Given the description of an element on the screen output the (x, y) to click on. 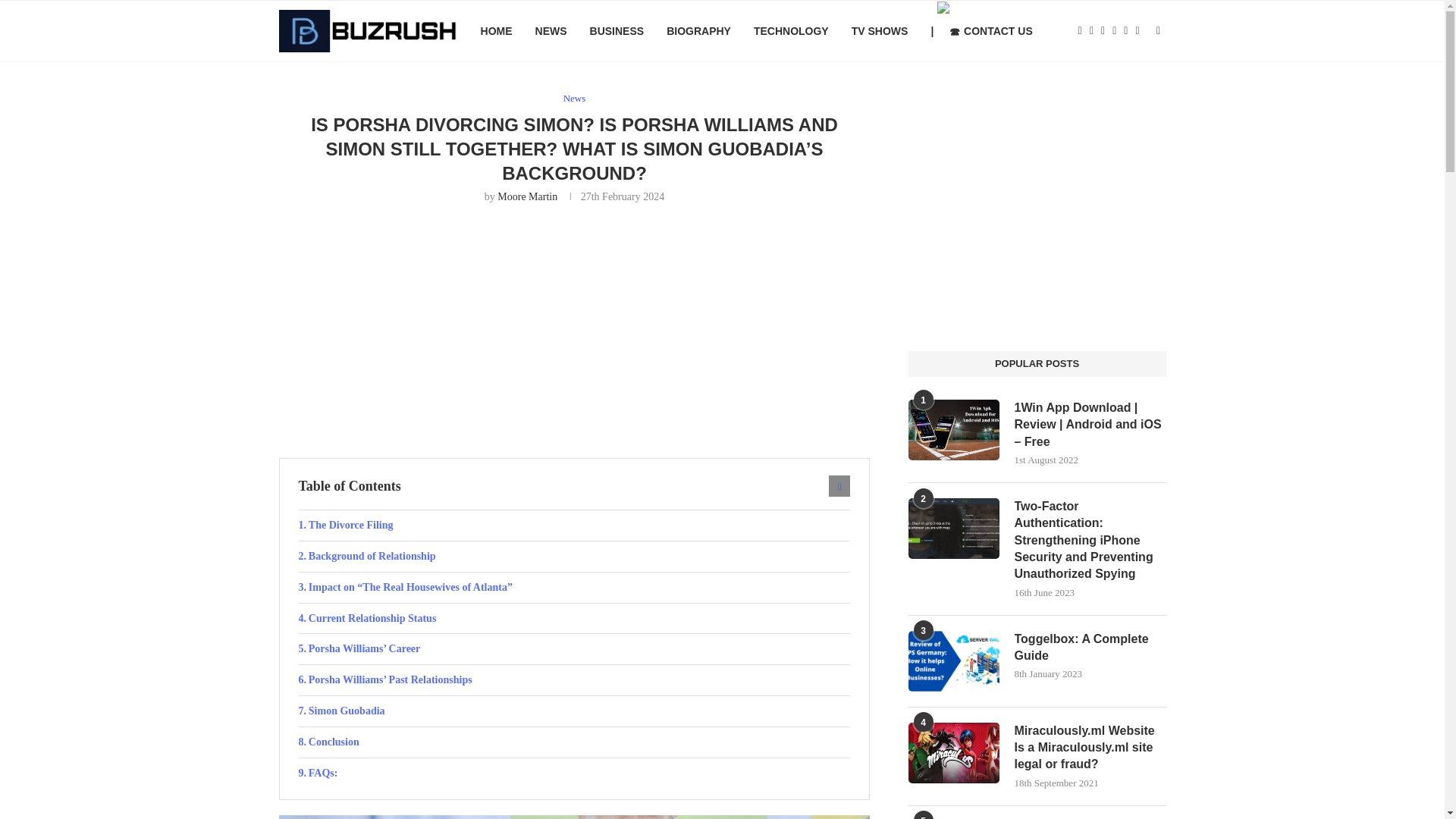
BIOGRAPHY (698, 30)
TECHNOLOGY (791, 30)
Conclusion (574, 742)
Simon Guobadia (574, 711)
FAQs: (574, 773)
Current Relationship Status (574, 618)
FAQs: (574, 773)
Conclusion (574, 742)
Moore Martin (527, 196)
Background of Relationship (574, 556)
